Given the description of an element on the screen output the (x, y) to click on. 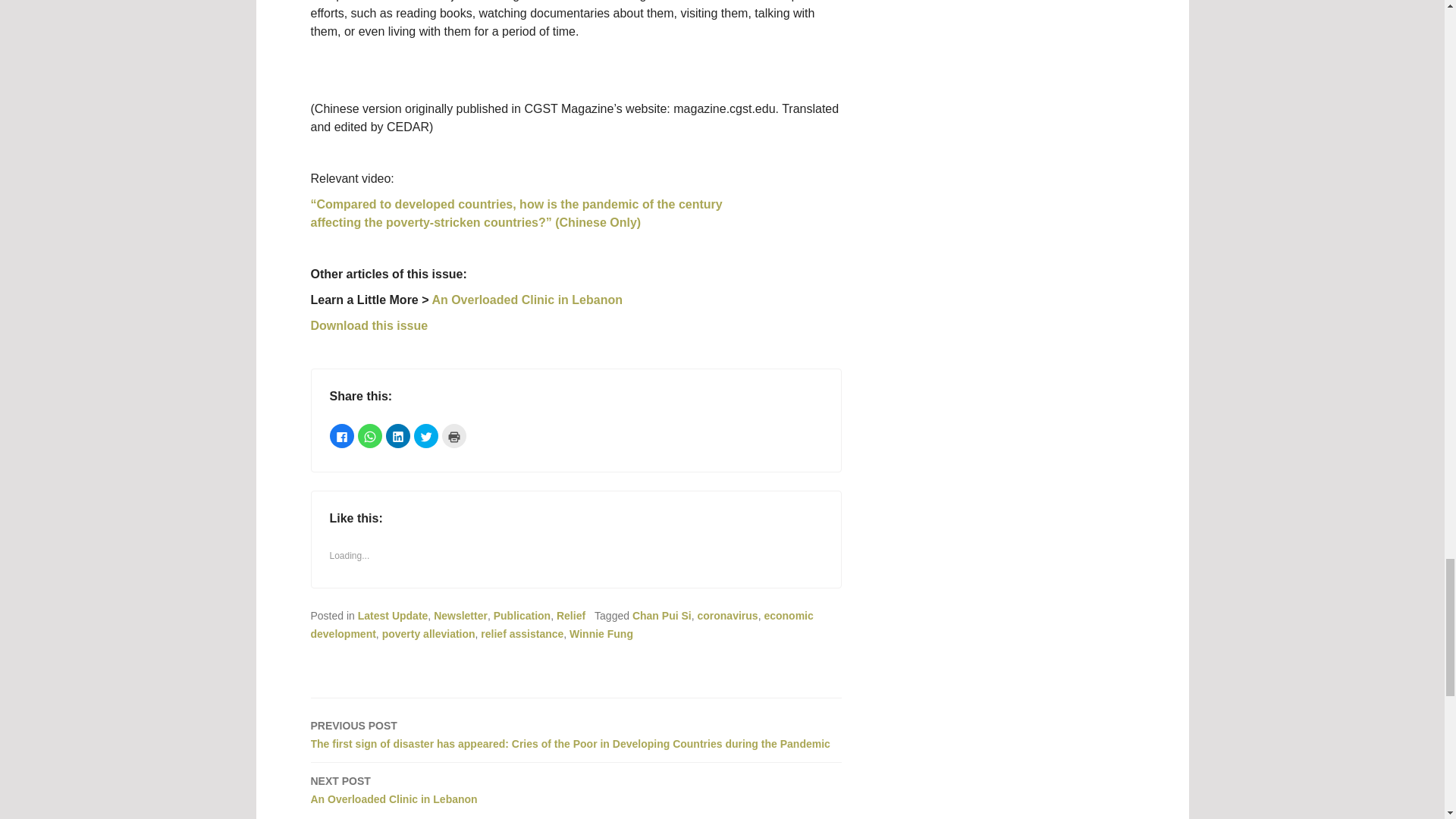
Click to share on WhatsApp (369, 435)
Click to share on Twitter (425, 435)
Click to share on LinkedIn (397, 435)
Click to print (453, 435)
An Overloaded Clinic in Lebanon (526, 299)
Click to share on Facebook (341, 435)
